Given the description of an element on the screen output the (x, y) to click on. 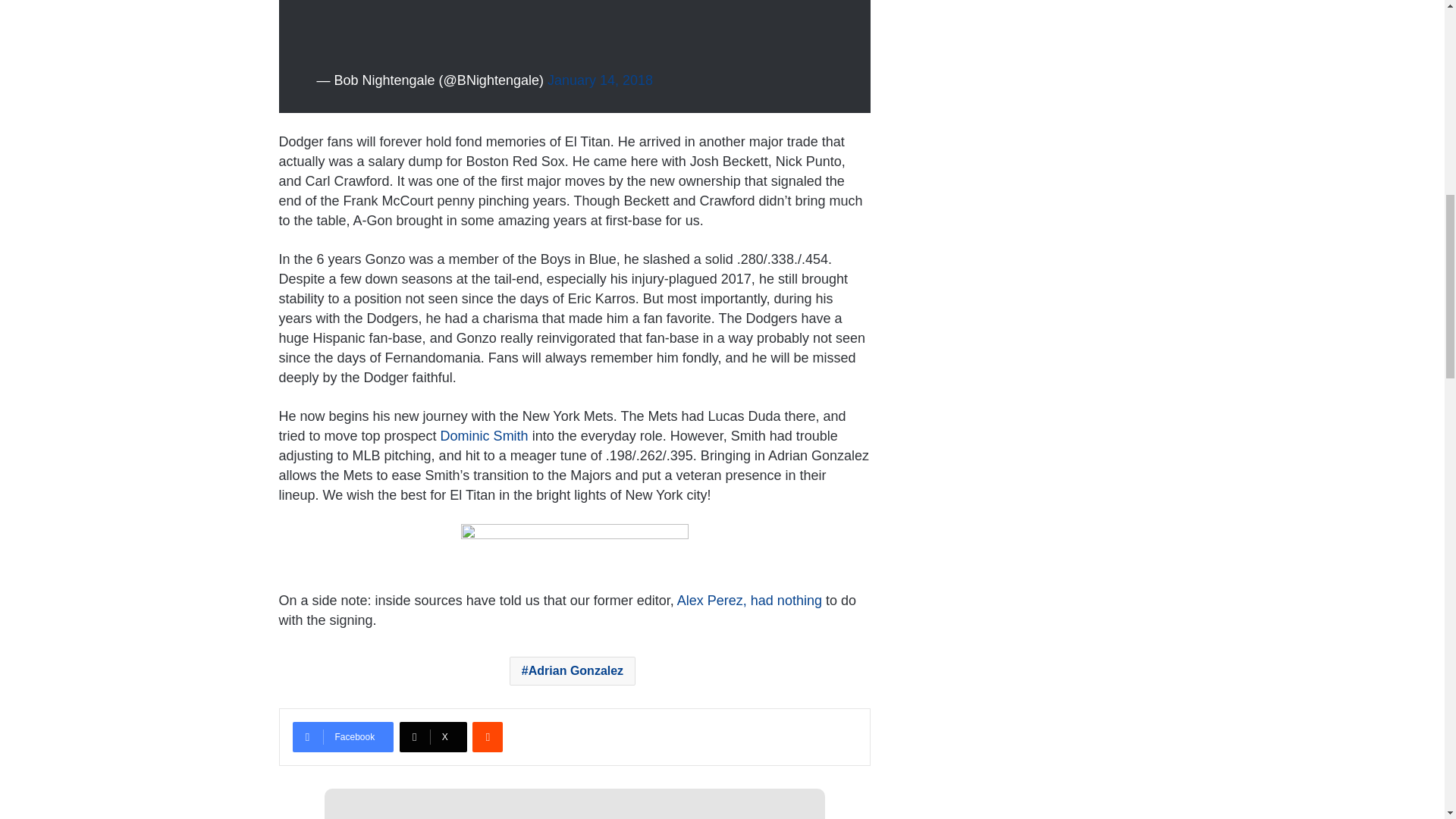
Facebook (343, 736)
Reddit (486, 736)
X (432, 736)
